Given the description of an element on the screen output the (x, y) to click on. 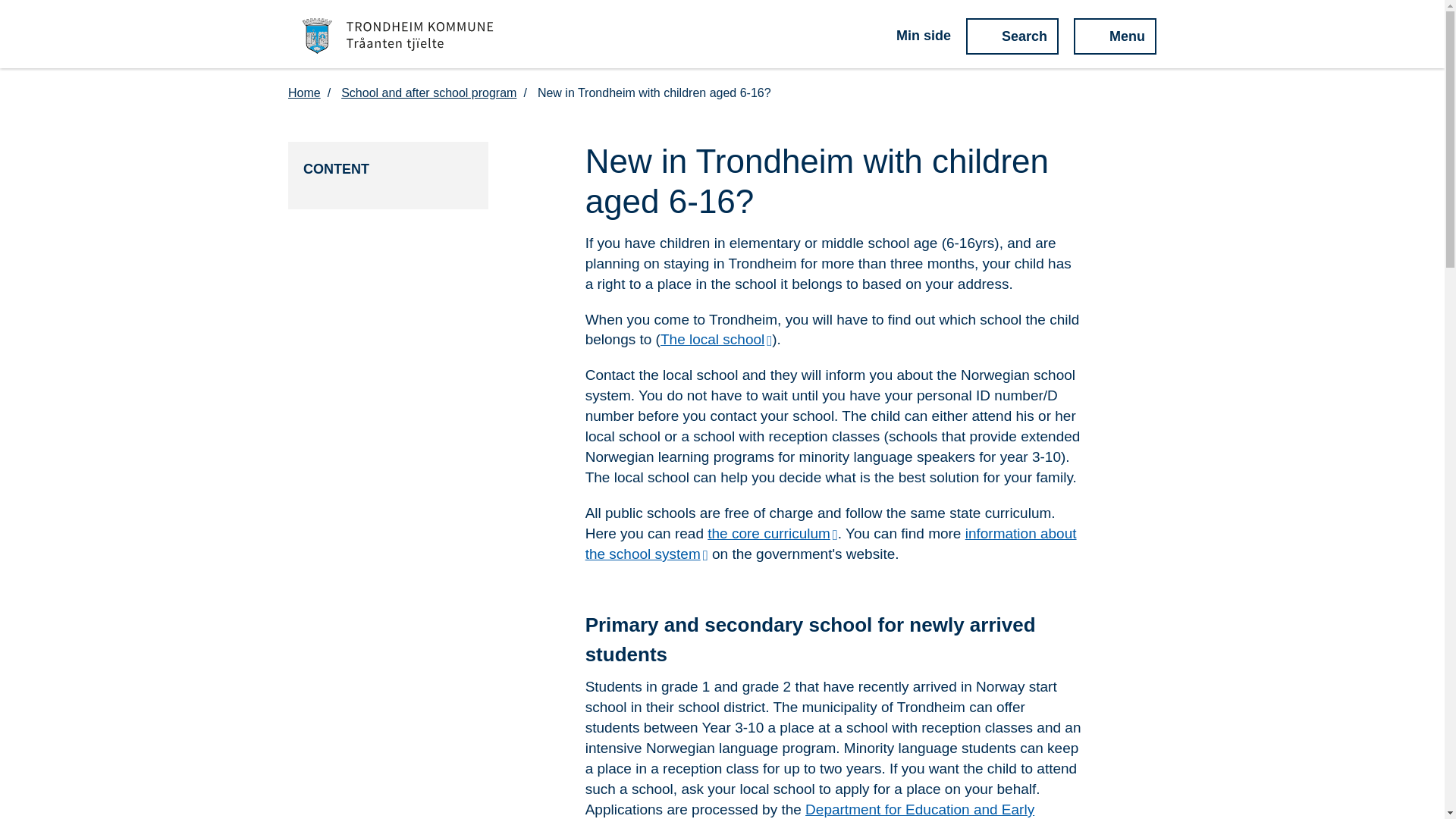
Home (312, 93)
Trondheim Municipality (398, 35)
information about the school system (831, 543)
Search (1012, 36)
Menu (1115, 36)
CONTENT (387, 169)
School and after school program (437, 93)
The local school (716, 339)
the core curriculum (772, 533)
Min side (912, 35)
